Given the description of an element on the screen output the (x, y) to click on. 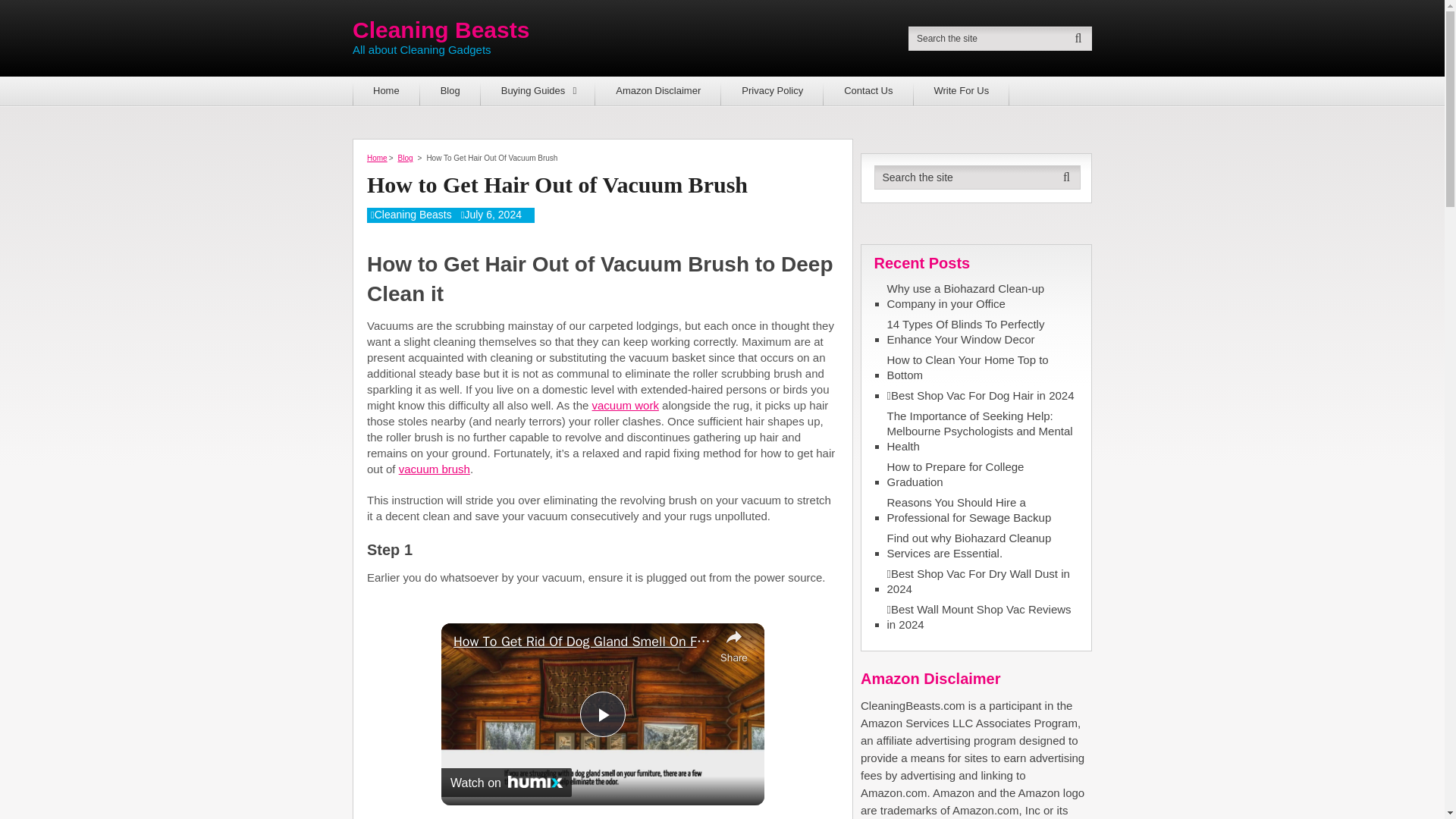
vacuum brush (434, 468)
share (734, 644)
Amazon Disclaimer (657, 90)
Cleaning Beasts (440, 29)
Contact Us (868, 90)
Play Video (602, 714)
Play Video (602, 714)
Home (386, 90)
Cleaning Beasts (412, 214)
vacuum work (625, 404)
Home (376, 157)
Blog (450, 90)
Buying Guides (537, 90)
Posts by Cleaning Beasts (412, 214)
Privacy Policy (772, 90)
